Given the description of an element on the screen output the (x, y) to click on. 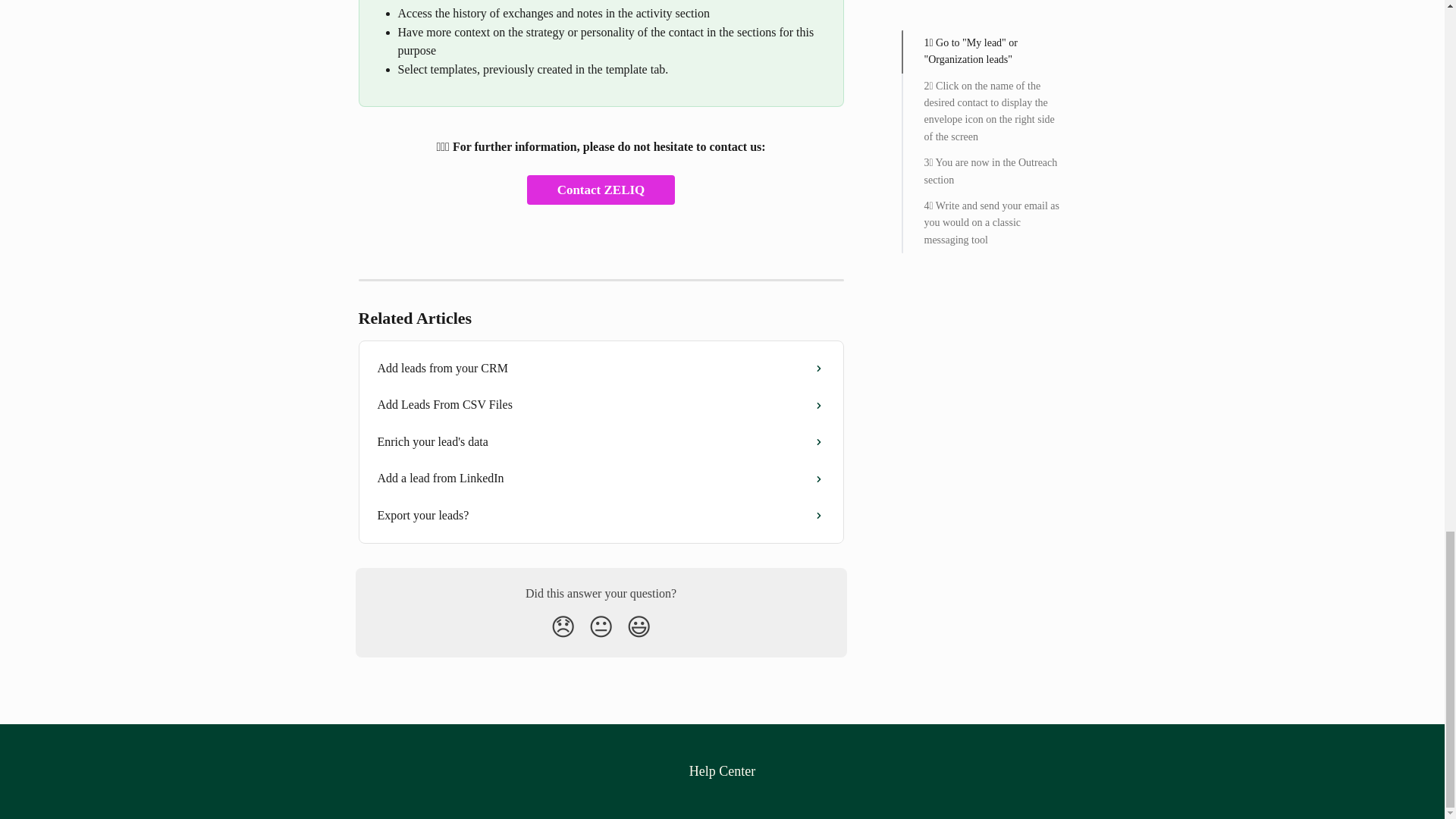
Neutral (600, 626)
Disappointed (562, 626)
Add a lead from LinkedIn (601, 478)
Help Center (721, 770)
Export your leads? (601, 515)
Add leads from your CRM (601, 368)
Smiley (638, 626)
Contact ZELIQ (601, 190)
Enrich your lead's data (601, 442)
Add Leads From CSV Files (601, 404)
